Given the description of an element on the screen output the (x, y) to click on. 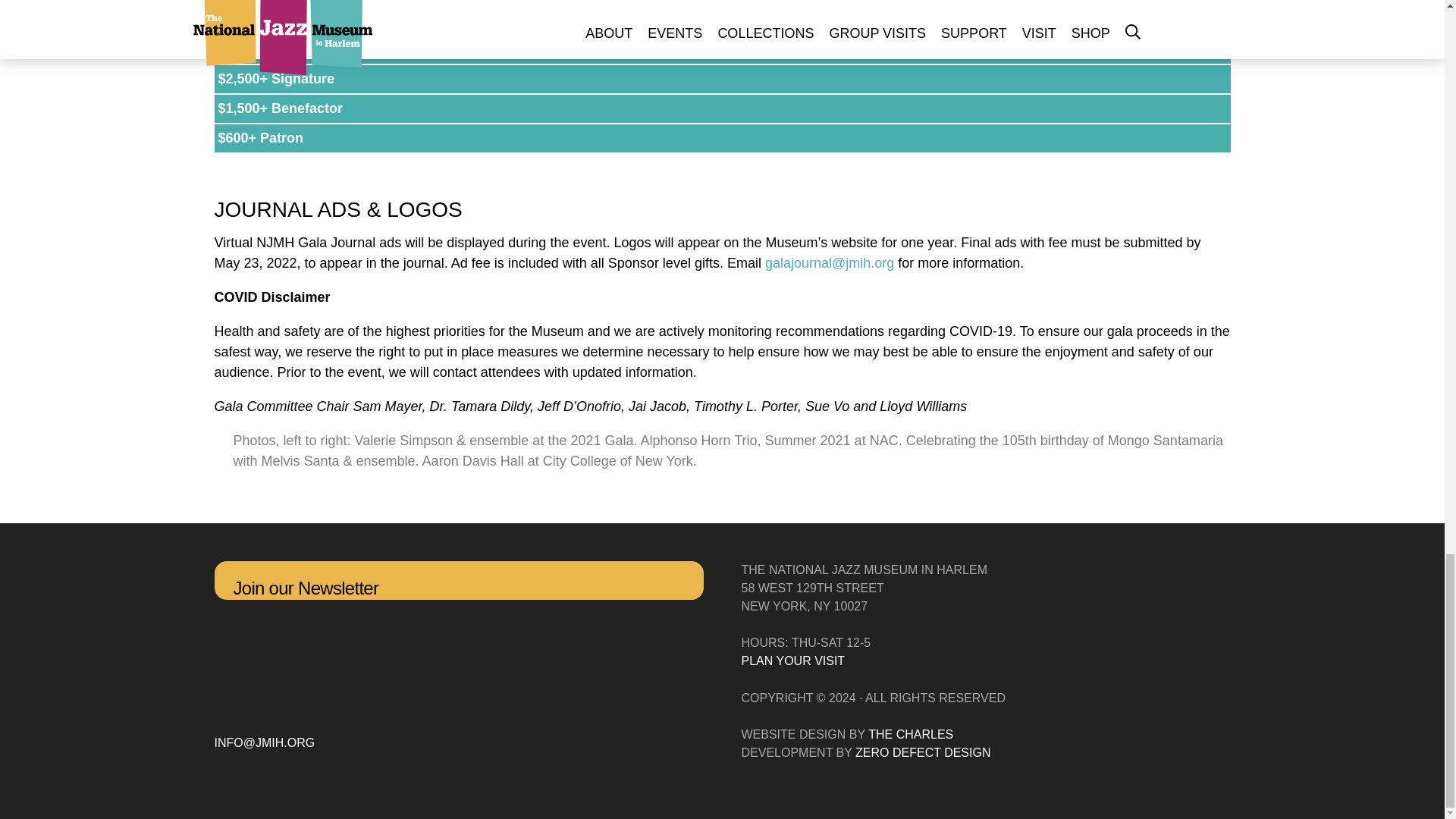
PLAN YOUR VISIT (793, 660)
THE CHARLES (910, 734)
ZERO DEFECT DESIGN (923, 752)
